Given the description of an element on the screen output the (x, y) to click on. 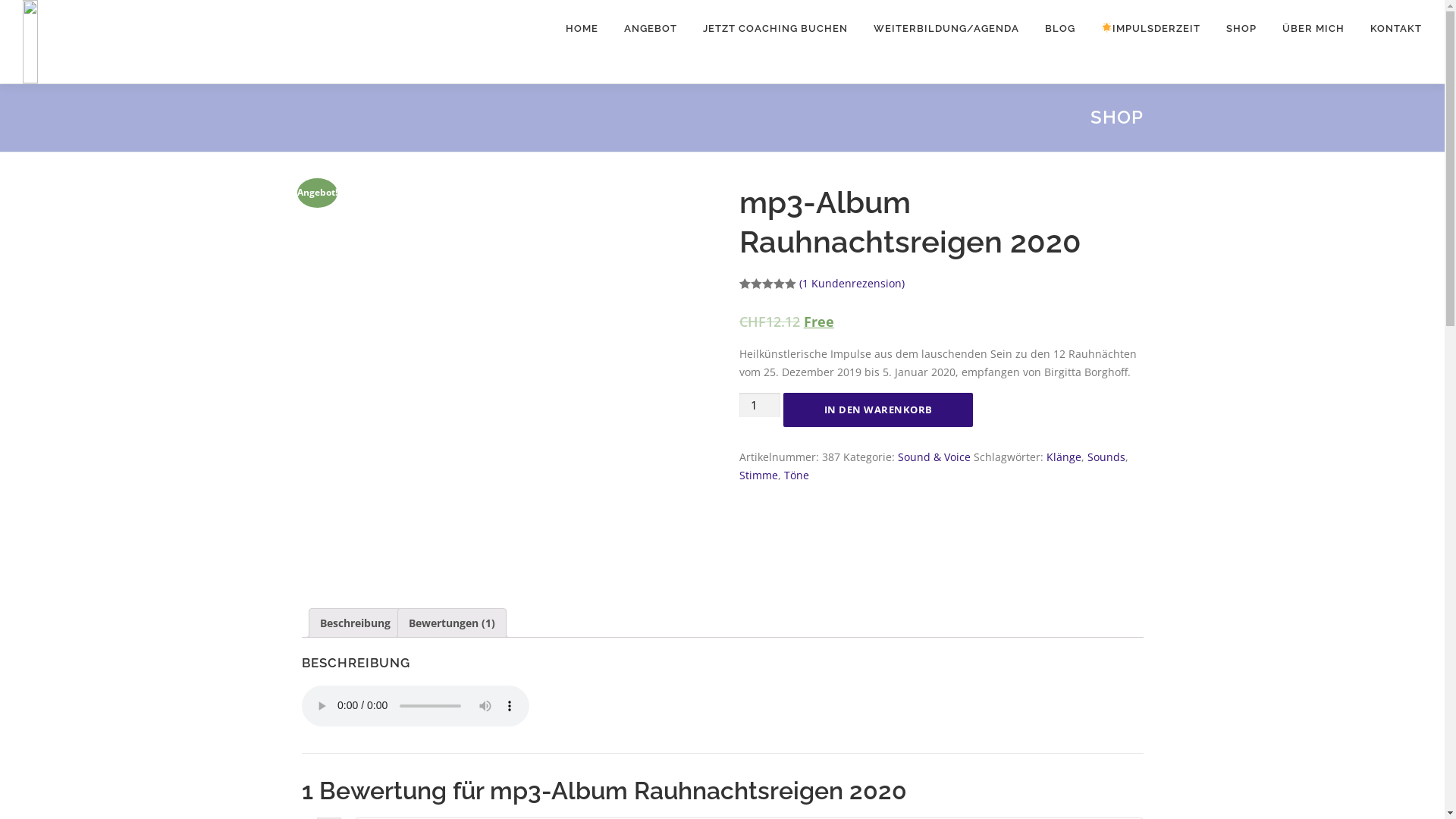
Stimme Element type: text (758, 474)
BLOG Element type: text (1060, 28)
ANGEBOT Element type: text (650, 28)
Menge Element type: hover (759, 404)
SHOP Element type: text (1241, 28)
HOME Element type: text (581, 28)
WEITERBILDUNG/AGENDA Element type: text (946, 28)
IN DEN WARENKORB Element type: text (877, 409)
Sound & Voice Element type: text (933, 456)
JETZT COACHING BUCHEN Element type: text (775, 28)
(1 Kundenrezension) Element type: text (851, 283)
IMPULSDERZEIT Element type: text (1150, 28)
Bewertungen (1) Element type: text (450, 622)
Beschreibung Element type: text (355, 622)
Sounds Element type: text (1106, 456)
KONTAKT Element type: text (1389, 28)
